Given the description of an element on the screen output the (x, y) to click on. 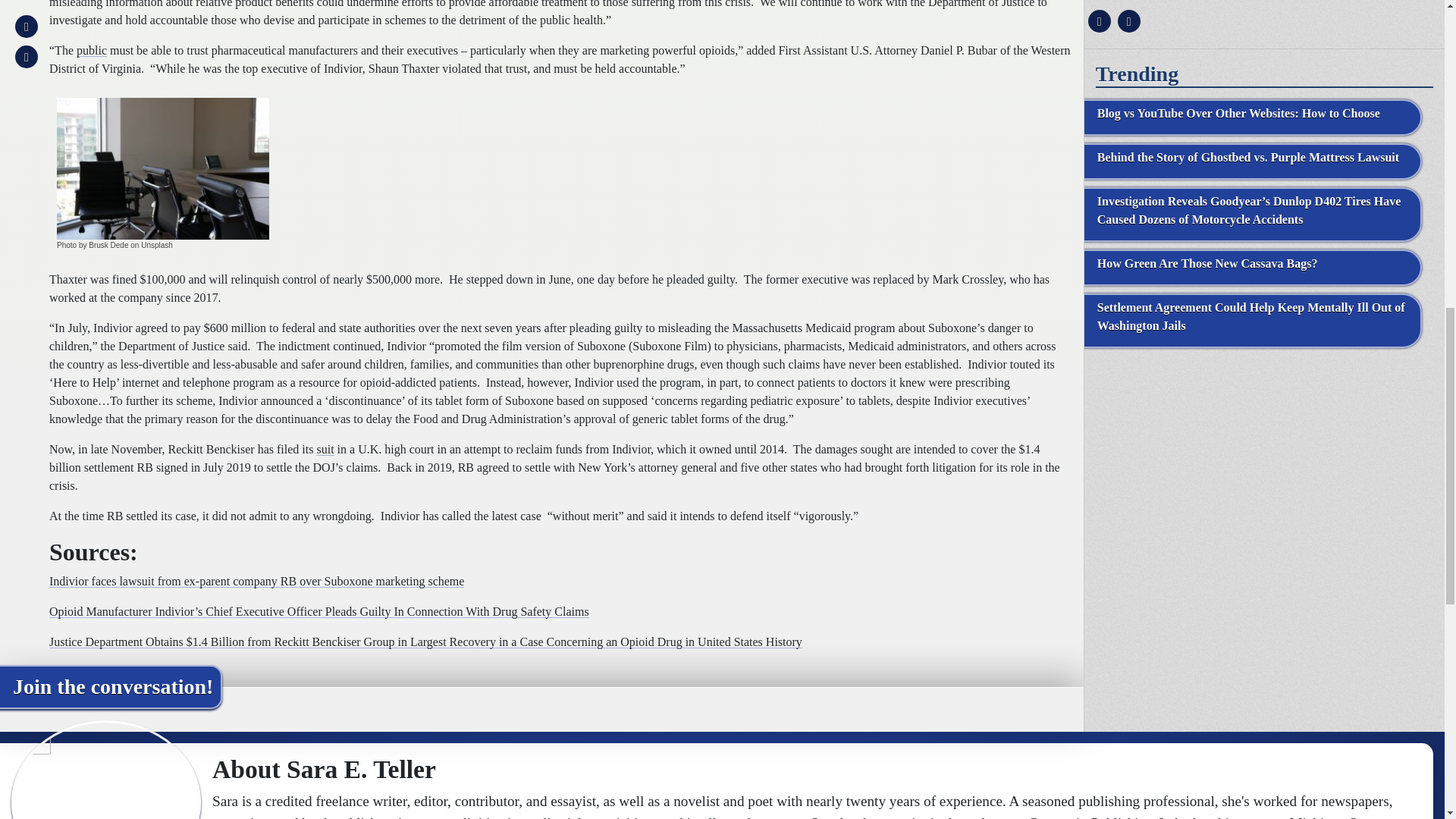
suit (324, 449)
public (91, 50)
